Given the description of an element on the screen output the (x, y) to click on. 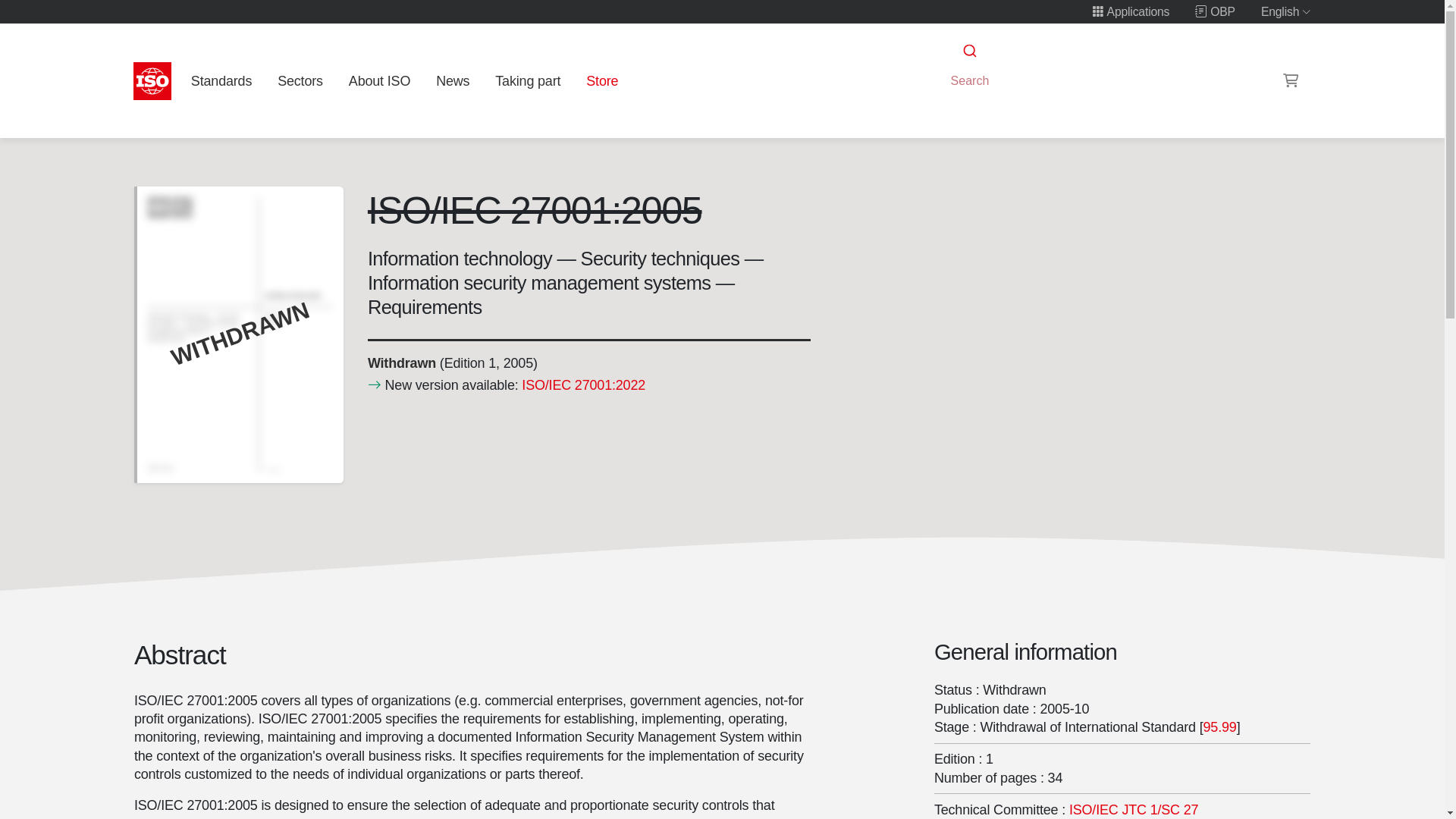
Online Browsing Platform (1214, 11)
ISO's applications portal (1130, 11)
95.99 (1220, 726)
Withdrawn (400, 363)
Taking part (528, 80)
English (1285, 11)
Shopping cart (1290, 80)
Standards (220, 80)
 OBP (1214, 11)
95.99 (1220, 726)
Submit (968, 51)
 Applications (1130, 11)
Information security, cybersecurity and privacy protection (1133, 809)
